Given the description of an element on the screen output the (x, y) to click on. 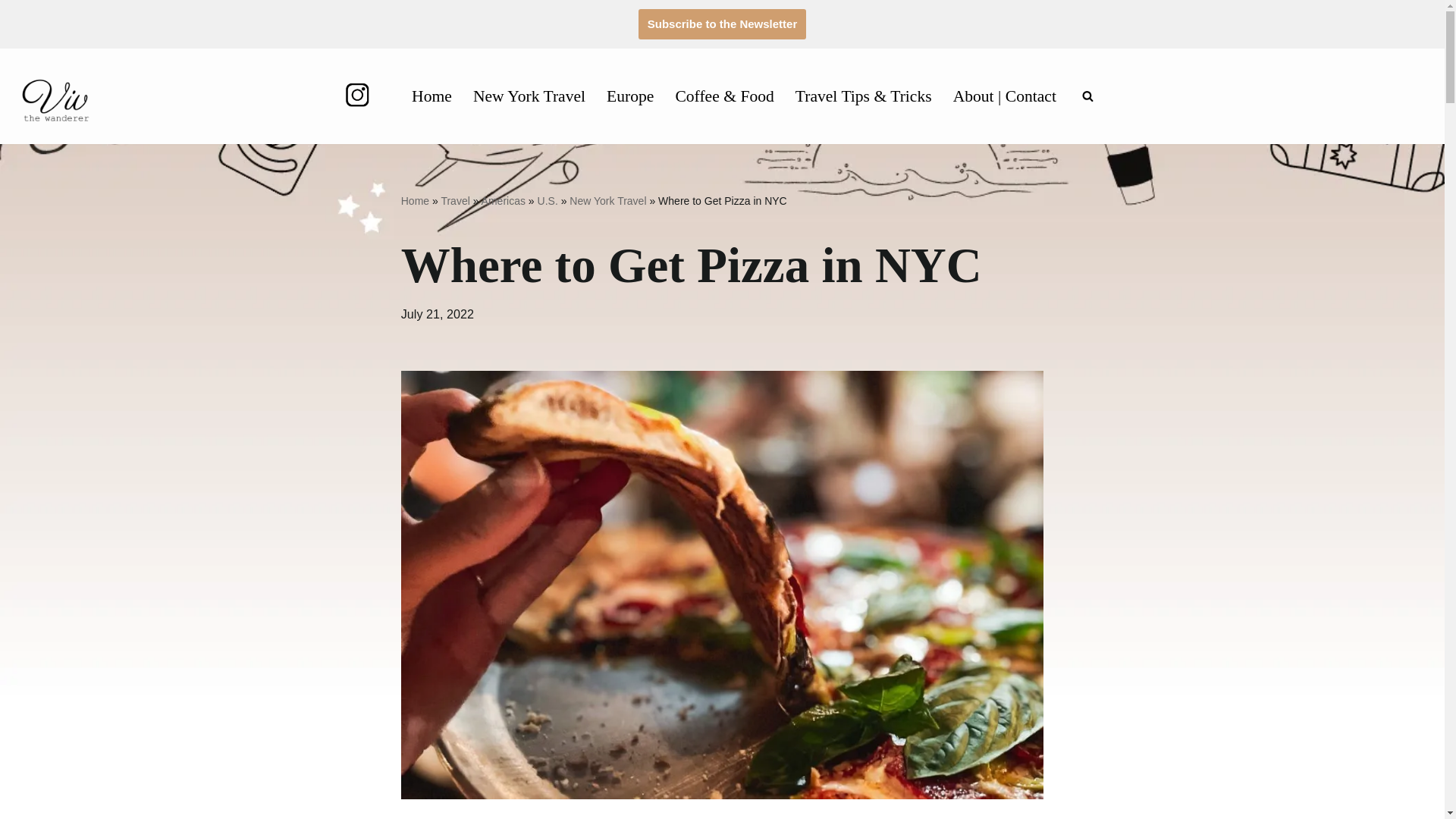
Instagram (357, 102)
New York Travel (607, 200)
Home (431, 95)
Skip to content (11, 31)
New York Travel (529, 95)
U.S. (547, 200)
Americas (503, 200)
Travel (454, 200)
Home (415, 200)
Europe (630, 95)
Subscribe to the Newsletter (722, 24)
Instagram (357, 93)
